Given the description of an element on the screen output the (x, y) to click on. 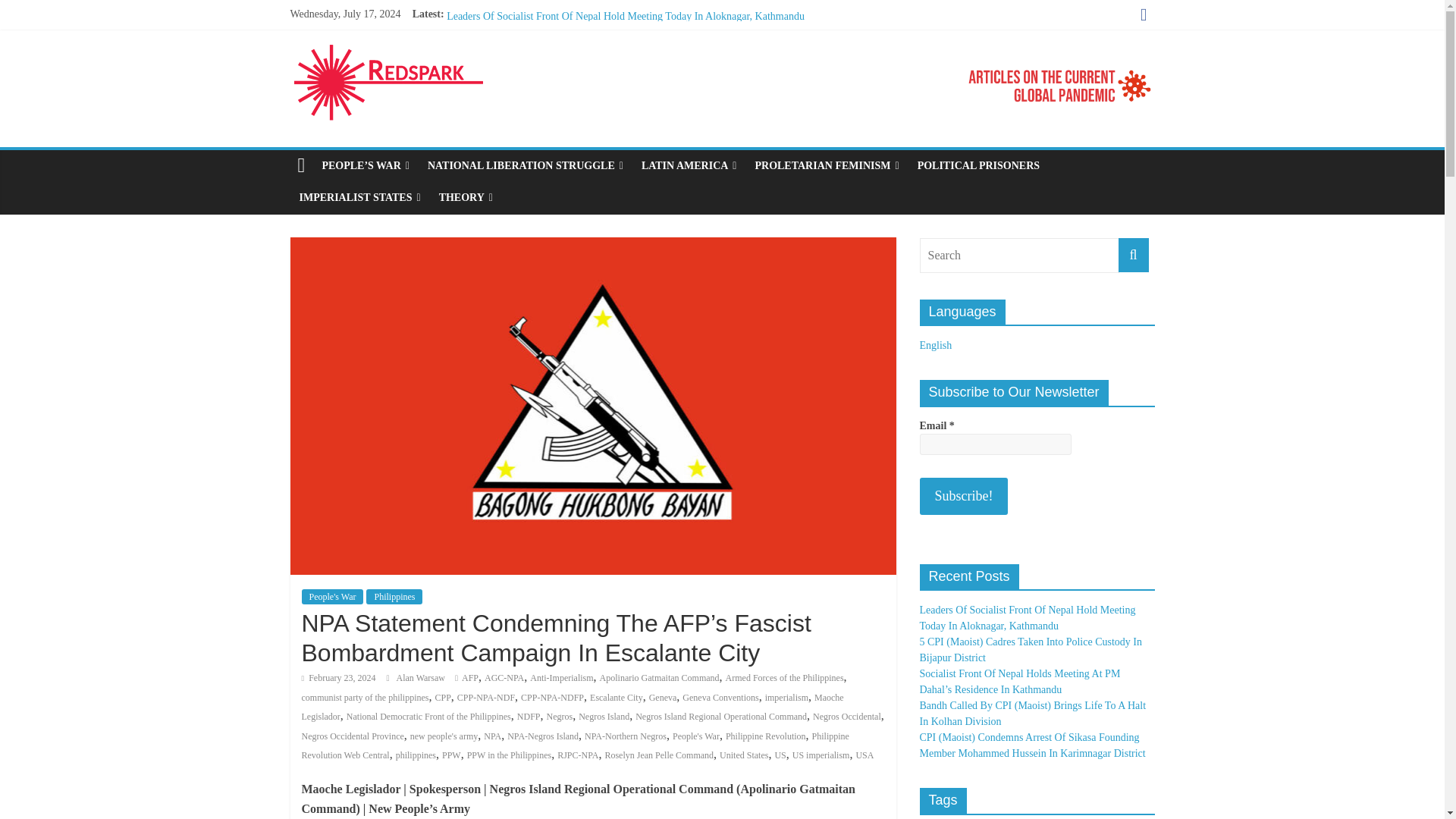
LATIN AMERICA (688, 165)
POLITICAL PRISONERS (978, 165)
Subscribe! (962, 496)
Alan Warsaw (421, 677)
PROLETARIAN FEMINISM (826, 165)
10:00 am (338, 677)
NATIONAL LIBERATION STRUGGLE (525, 165)
Email (994, 444)
IMPERIALIST STATES (359, 197)
